Given the description of an element on the screen output the (x, y) to click on. 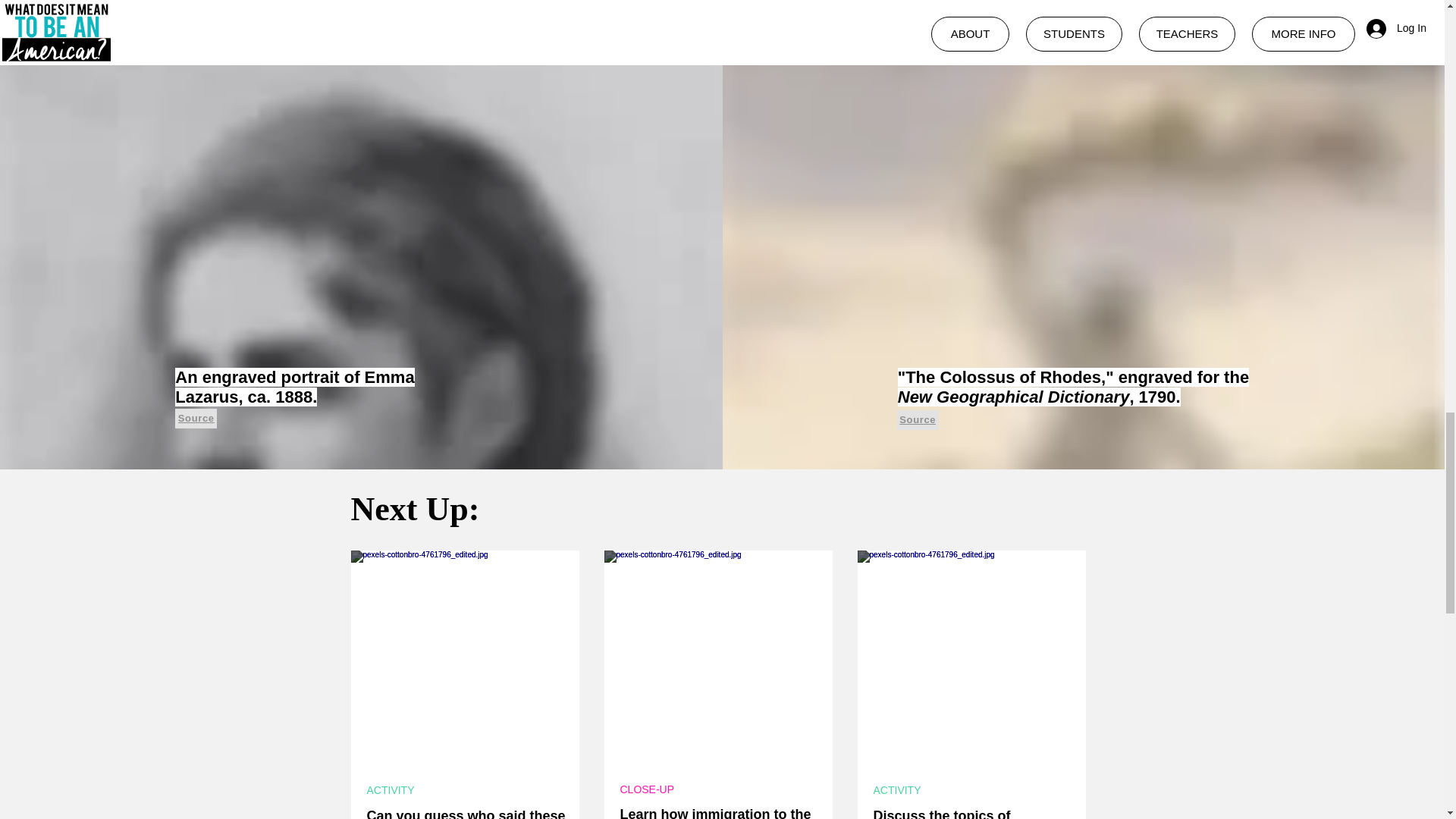
Button (464, 658)
. (966, 810)
Source (917, 419)
Source (195, 418)
. (713, 809)
. (459, 810)
Button (970, 658)
Button (717, 658)
